Given the description of an element on the screen output the (x, y) to click on. 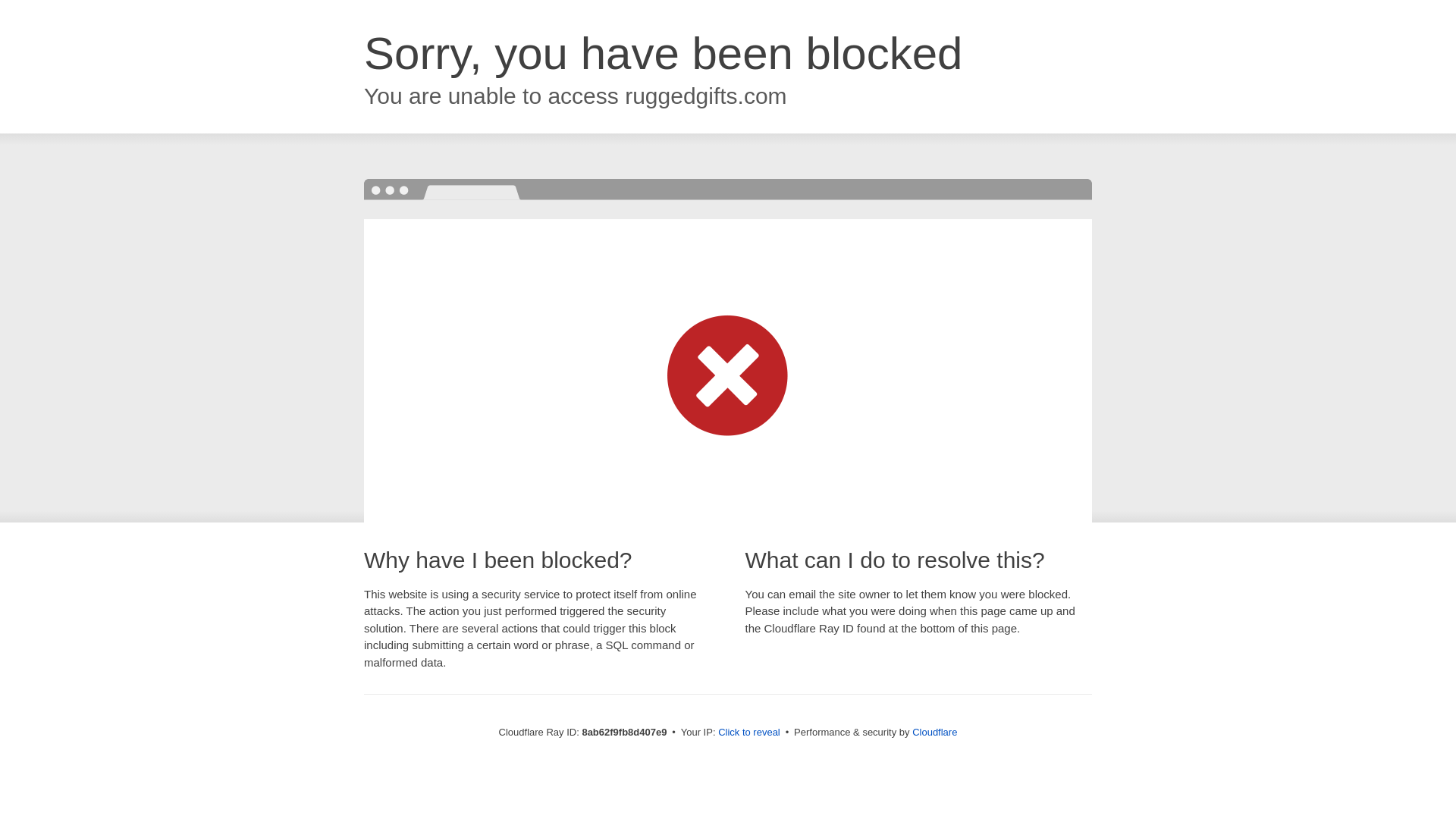
Cloudflare (934, 731)
Click to reveal (748, 732)
